Given the description of an element on the screen output the (x, y) to click on. 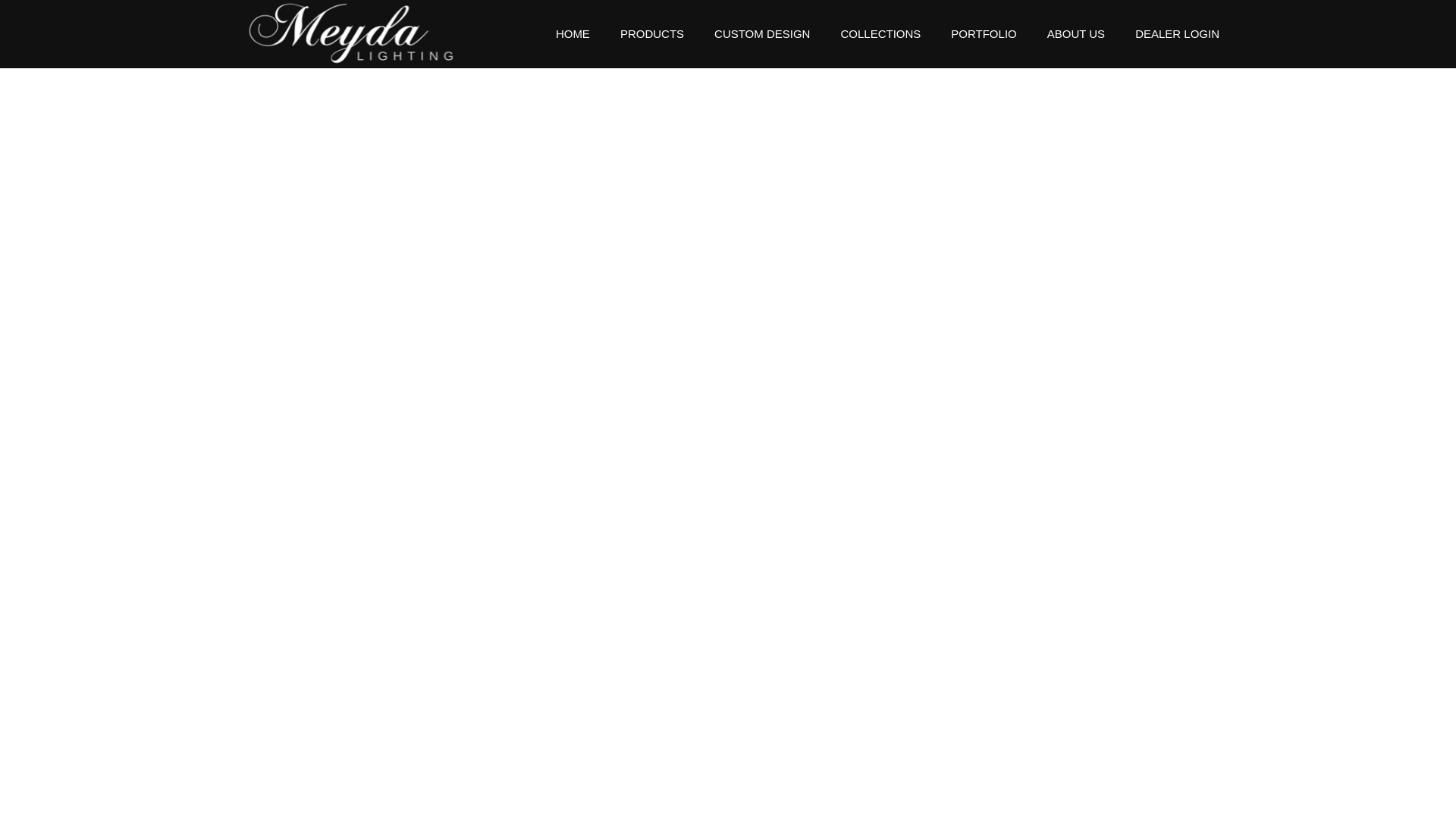
Meyda Lighting (345, 33)
Meyda Lighting Custom Design Landing Page (761, 33)
HOME (572, 33)
PRODUCTS (651, 33)
Meyda Lighting Home Page (345, 7)
Meyda Lighting Home Page (572, 33)
